Given the description of an element on the screen output the (x, y) to click on. 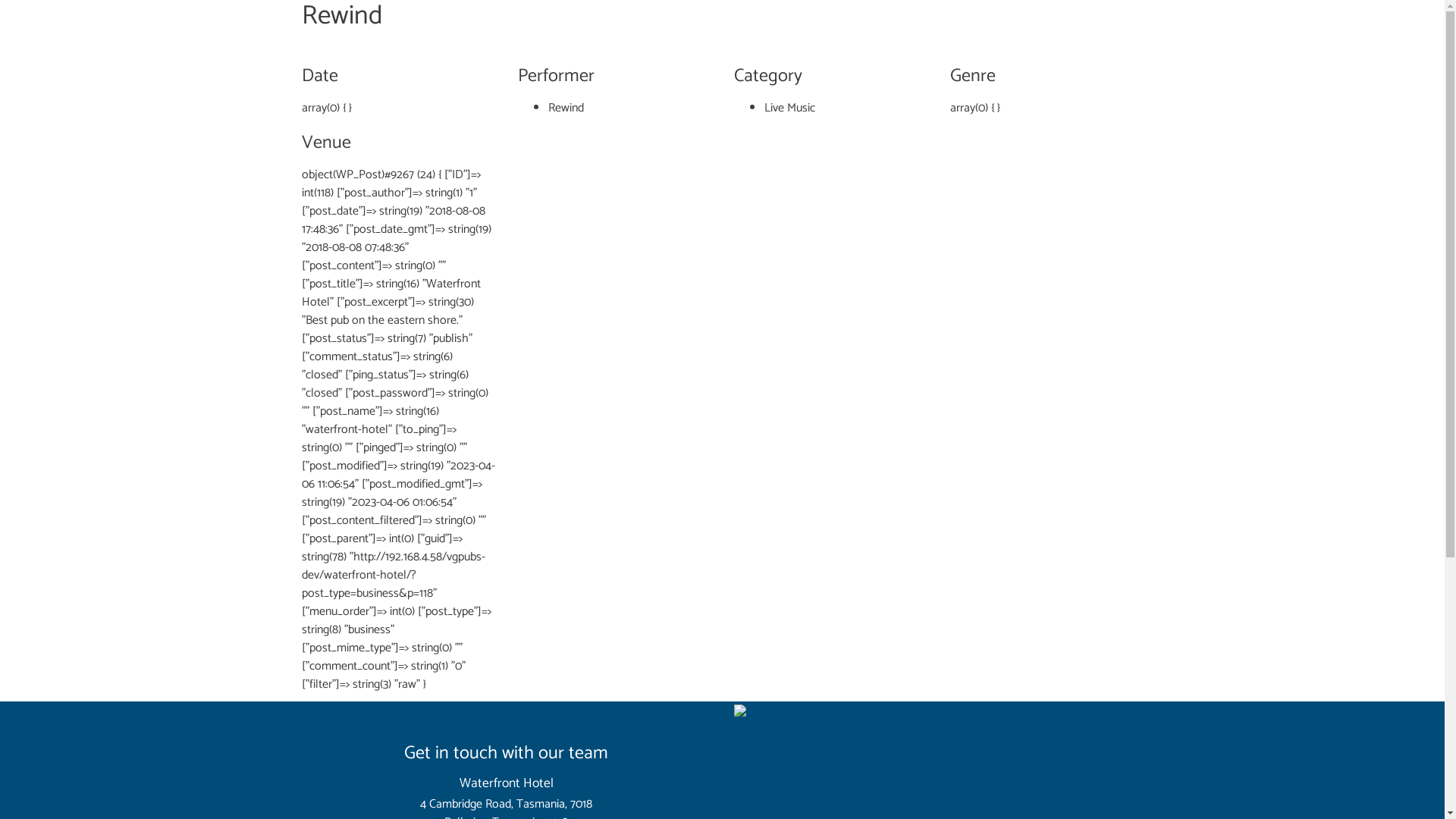
Google Maps Element type: hover (938, 710)
